Given the description of an element on the screen output the (x, y) to click on. 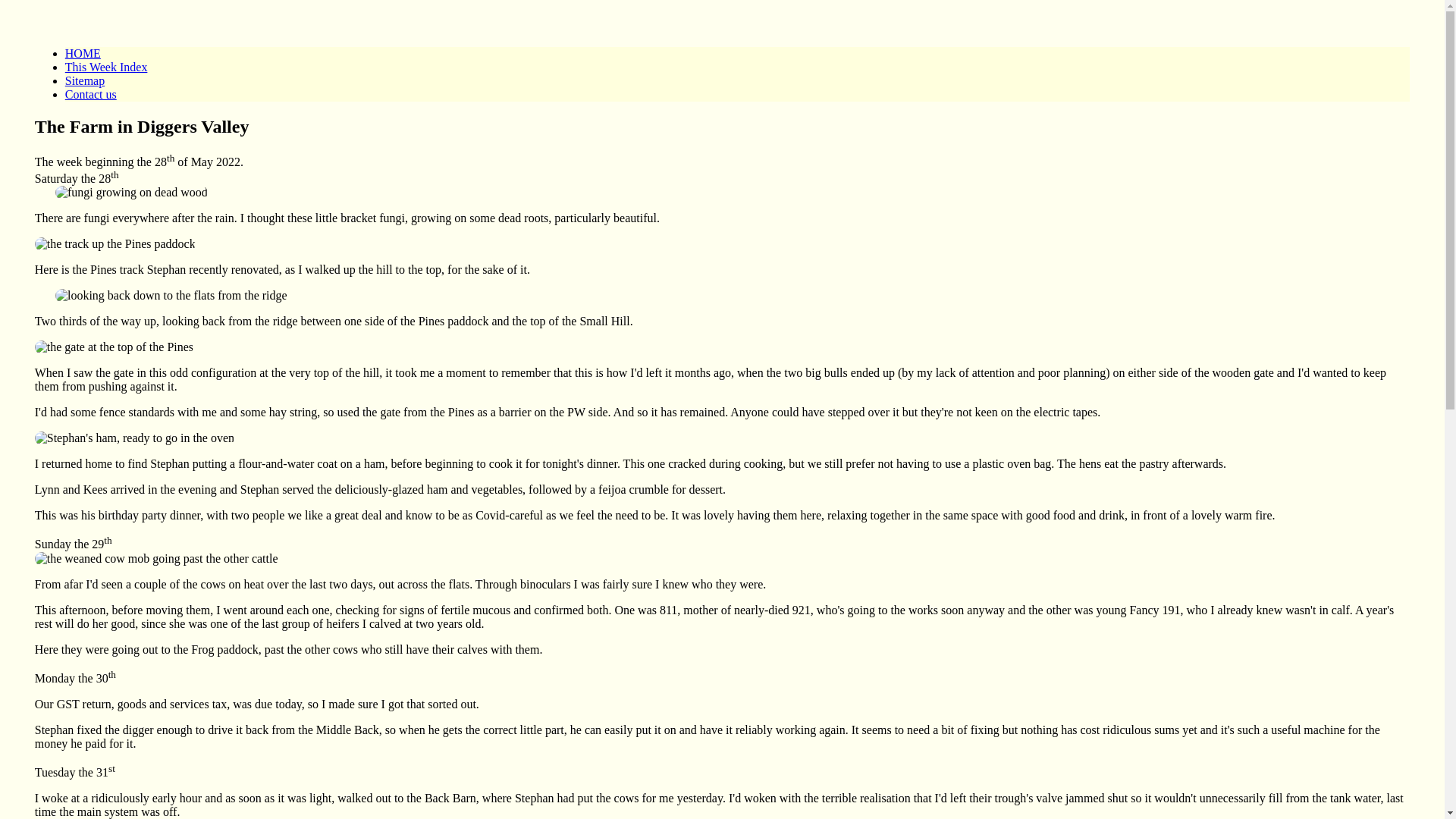
This Week Index (106, 66)
Sitemap (84, 80)
A map of how things connect within this site. (84, 80)
HOME (82, 52)
Contact us (90, 93)
Index of all updates. (106, 66)
Back to the Home page. (82, 52)
